Given the description of an element on the screen output the (x, y) to click on. 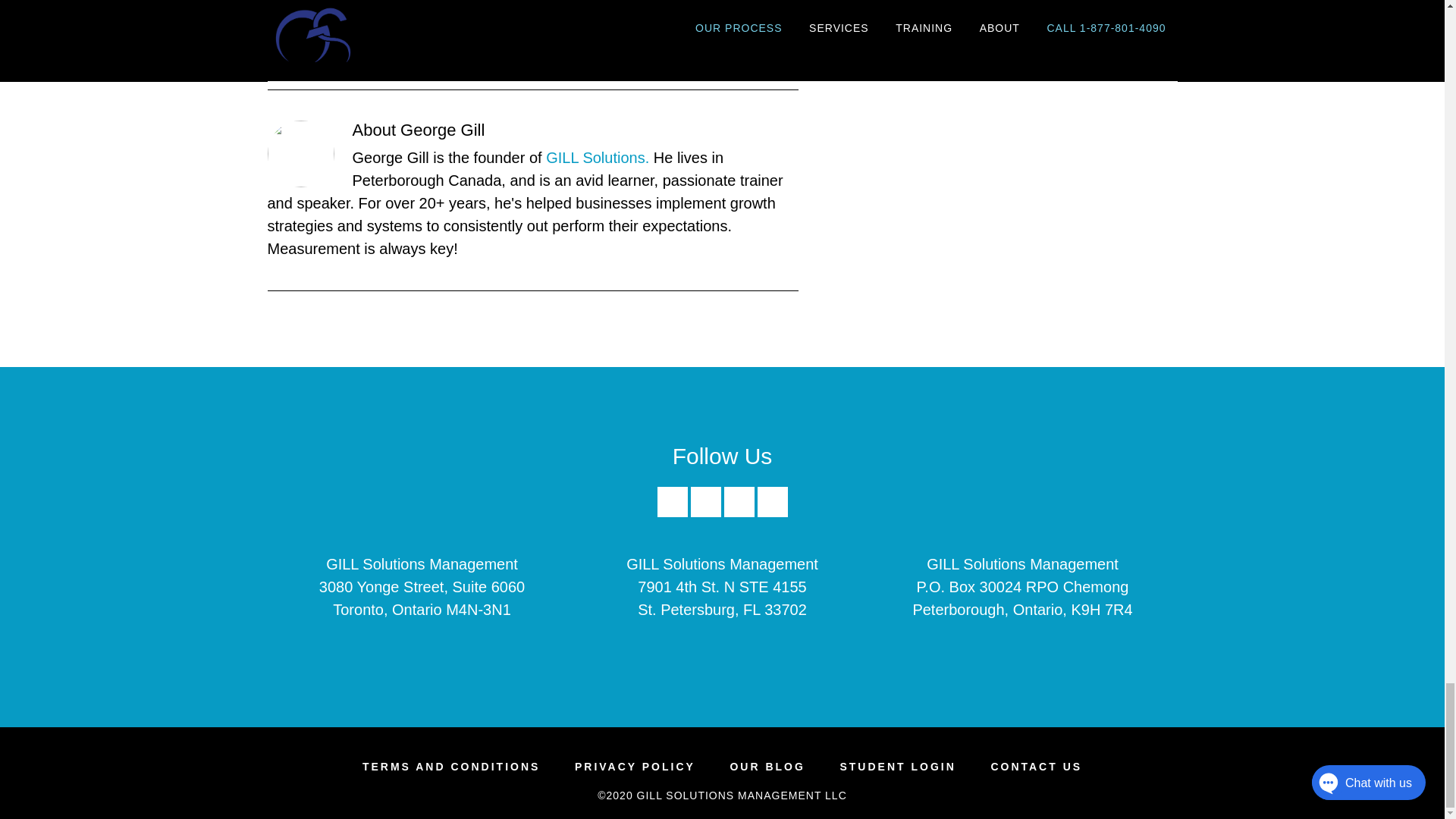
Facebook (671, 513)
Twitter (738, 501)
LinkedIn (705, 501)
YouTube (772, 501)
YouTube (772, 513)
Twitter (738, 513)
LinkedIn (705, 513)
Facebook (671, 501)
